Given the description of an element on the screen output the (x, y) to click on. 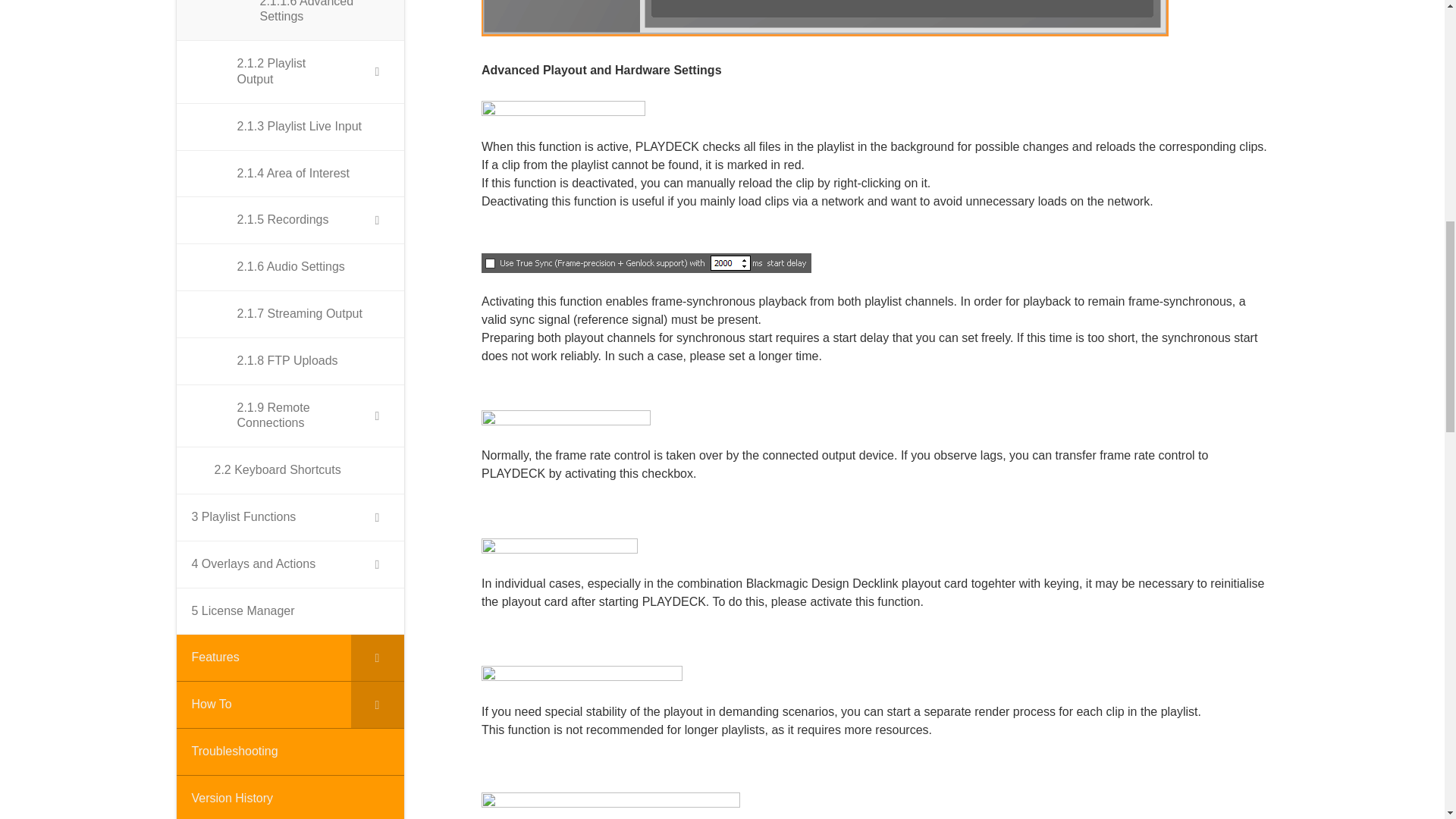
2.1.1.6 Advanced Settings (289, 20)
2.1.2 Playlist Output (289, 72)
2.1.3 Playlist Live Input (289, 127)
